Given the description of an element on the screen output the (x, y) to click on. 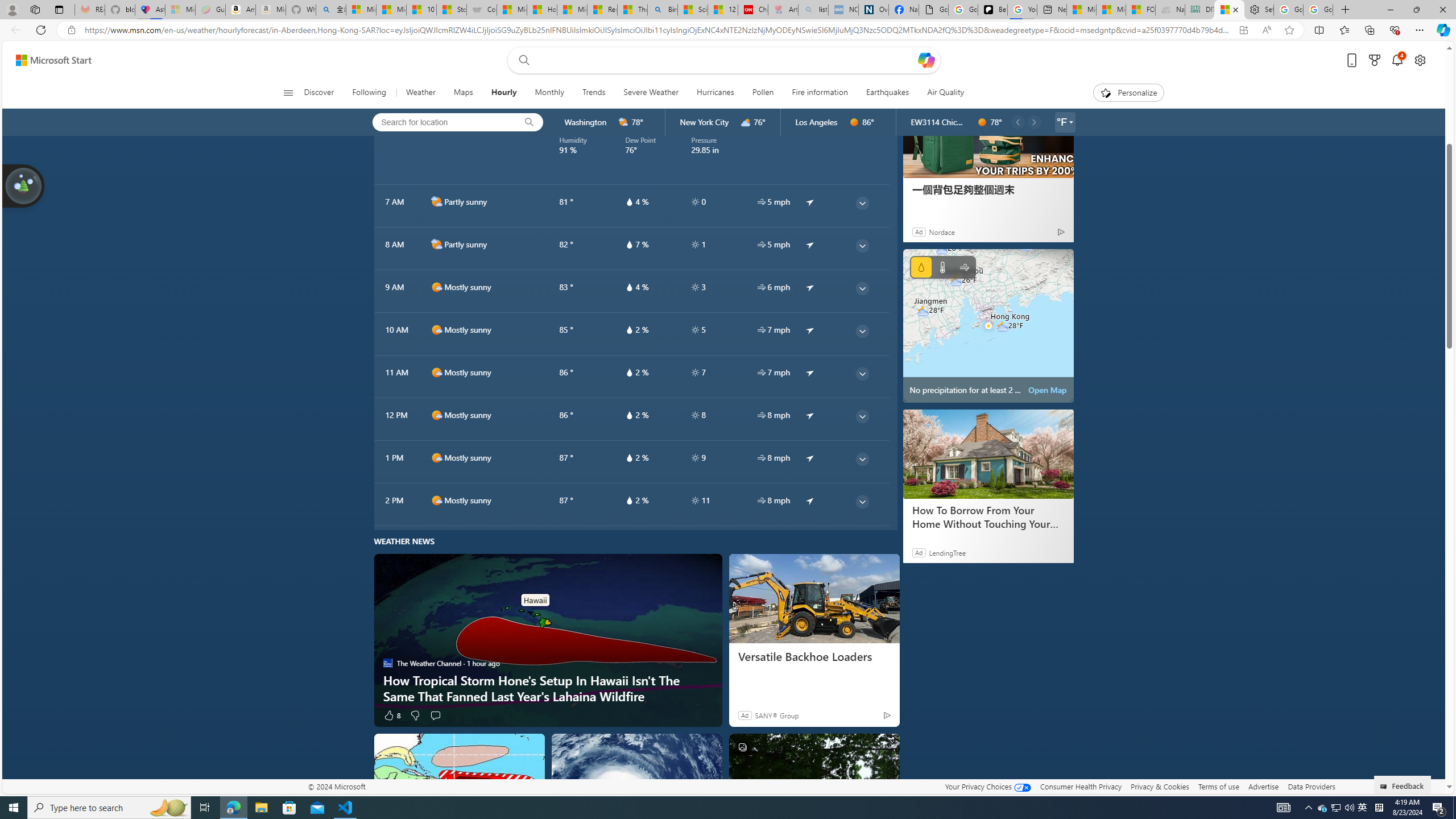
Temperature (942, 267)
Terms of use (1218, 785)
Nordace (941, 231)
How To Borrow From Your Home Without Touching Your Mortgage (987, 516)
Maps (462, 92)
Combat Siege (481, 9)
